Given the description of an element on the screen output the (x, y) to click on. 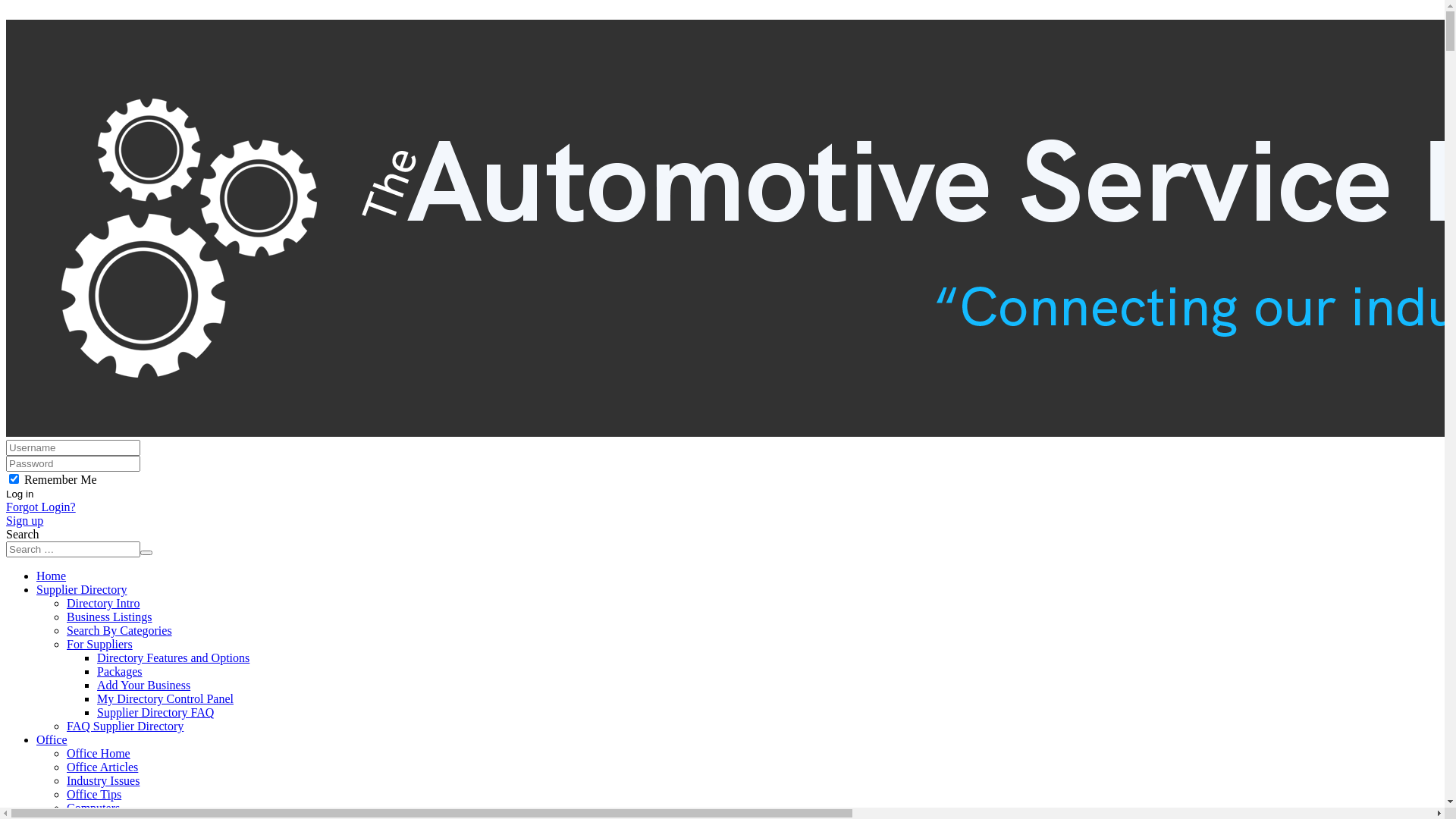
Office Element type: text (51, 739)
Office Articles Element type: text (102, 766)
Packages Element type: text (119, 671)
Supplier Directory Element type: text (81, 589)
Directory Features and Options Element type: text (173, 657)
Business Listings Element type: text (108, 616)
Add Your Business Element type: text (143, 684)
FAQ Supplier Directory Element type: text (124, 725)
Home Element type: text (50, 575)
For Suppliers Element type: text (99, 643)
Office Home Element type: text (98, 752)
My Directory Control Panel Element type: text (165, 698)
Directory Intro Element type: text (102, 602)
Forgot Login? Element type: text (40, 506)
Log in Element type: text (19, 493)
Sign up Element type: text (24, 520)
Office Tips Element type: text (93, 793)
Search By Categories Element type: text (119, 630)
Computers Element type: text (92, 807)
Supplier Directory FAQ Element type: text (155, 712)
Industry Issues Element type: text (102, 780)
